Given the description of an element on the screen output the (x, y) to click on. 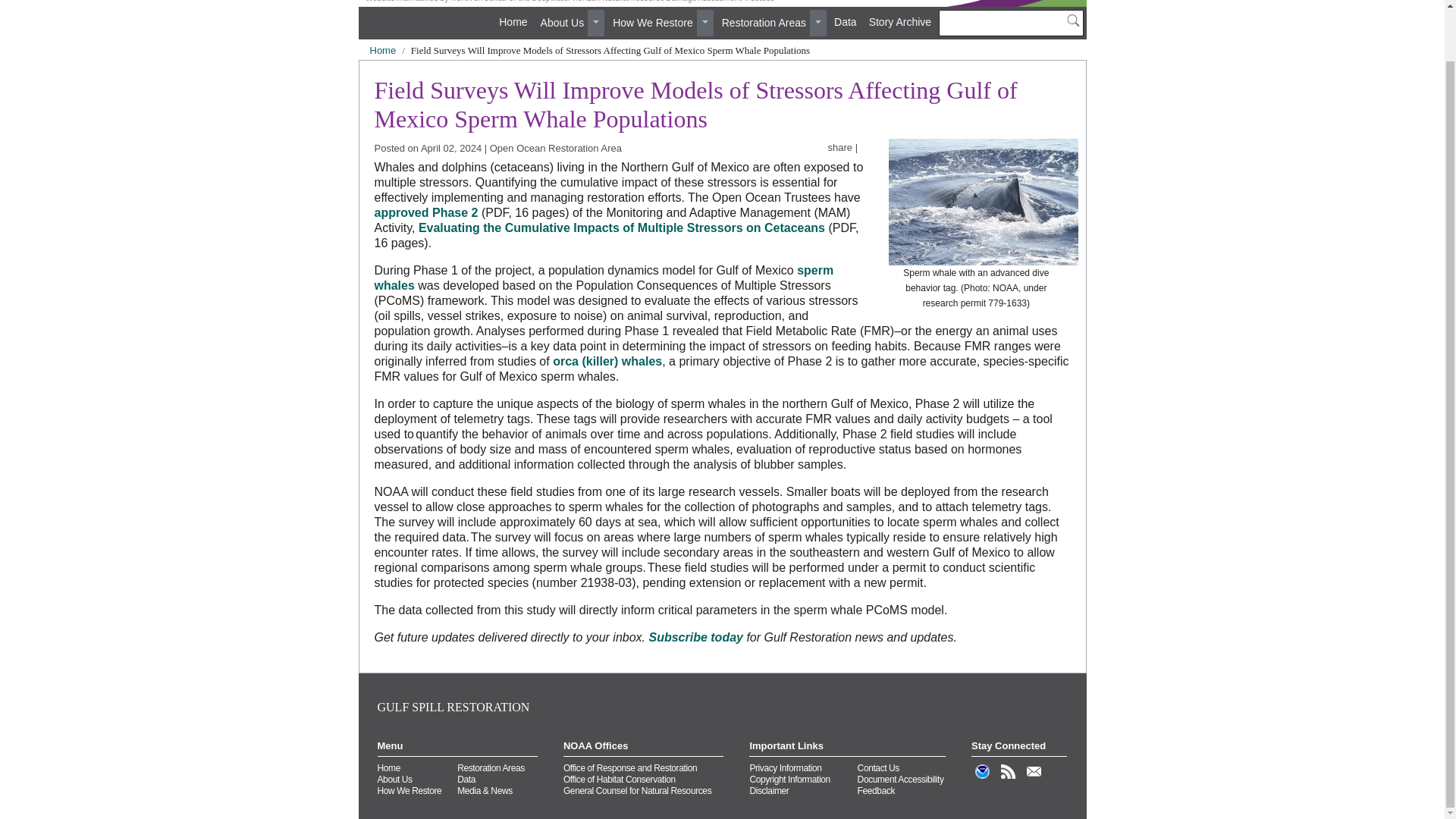
About Us (562, 22)
Home (513, 22)
Enter the terms you wish to search for. (1011, 22)
sperm whales (604, 277)
Story Archive (900, 22)
Restoration Areas (763, 22)
Data (845, 22)
How We Restore (652, 22)
approved Phase 2 (426, 212)
Home (382, 50)
